Given the description of an element on the screen output the (x, y) to click on. 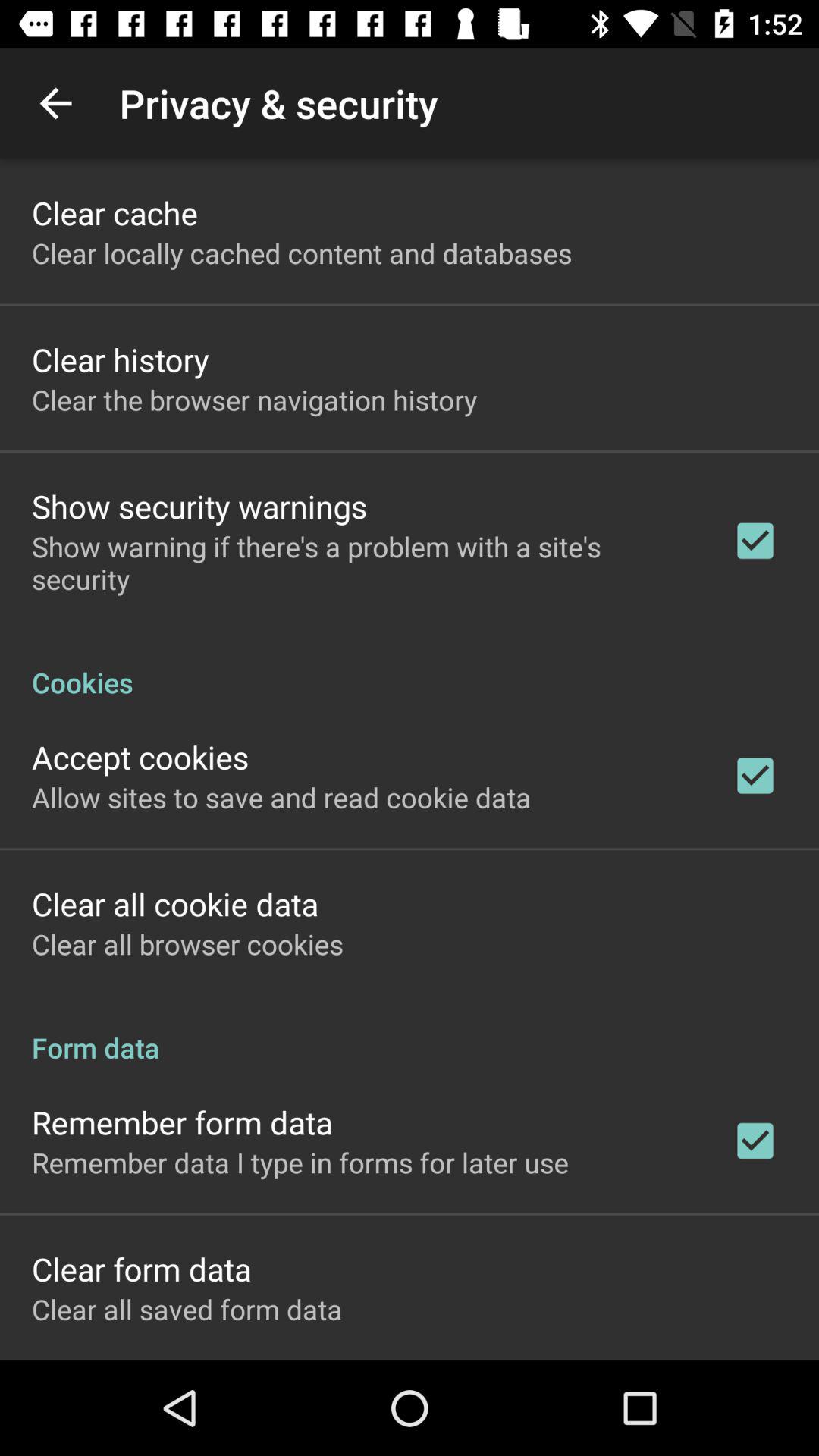
turn on the item above the clear all cookie item (281, 797)
